Given the description of an element on the screen output the (x, y) to click on. 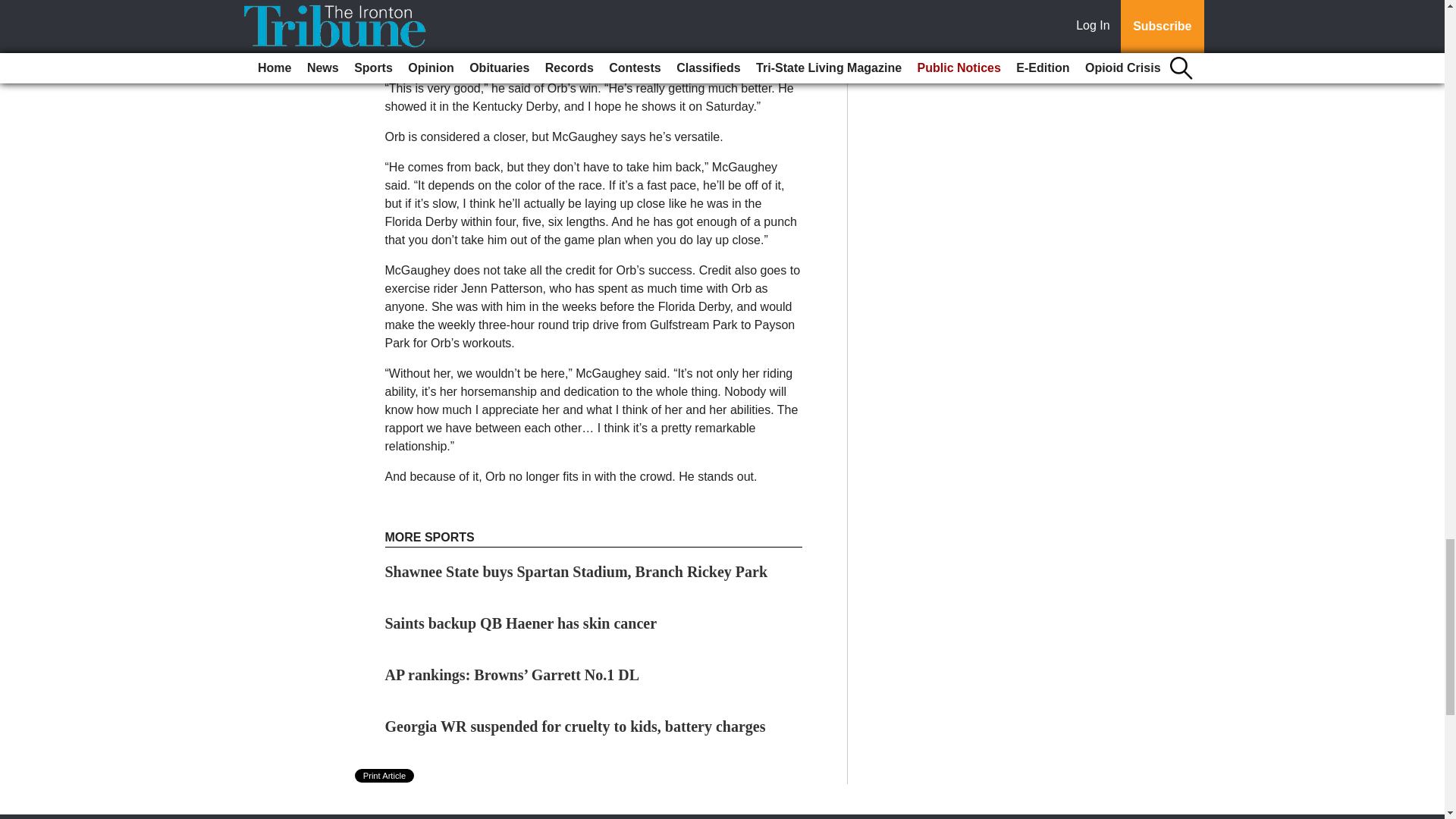
Shawnee State buys Spartan Stadium, Branch Rickey Park (576, 571)
Saints backup QB Haener has skin cancer (521, 623)
Shawnee State buys Spartan Stadium, Branch Rickey Park (576, 571)
Saints backup QB Haener has skin cancer (521, 623)
Georgia WR suspended for cruelty to kids, battery charges (575, 726)
Print Article (384, 775)
Georgia WR suspended for cruelty to kids, battery charges (575, 726)
